Given the description of an element on the screen output the (x, y) to click on. 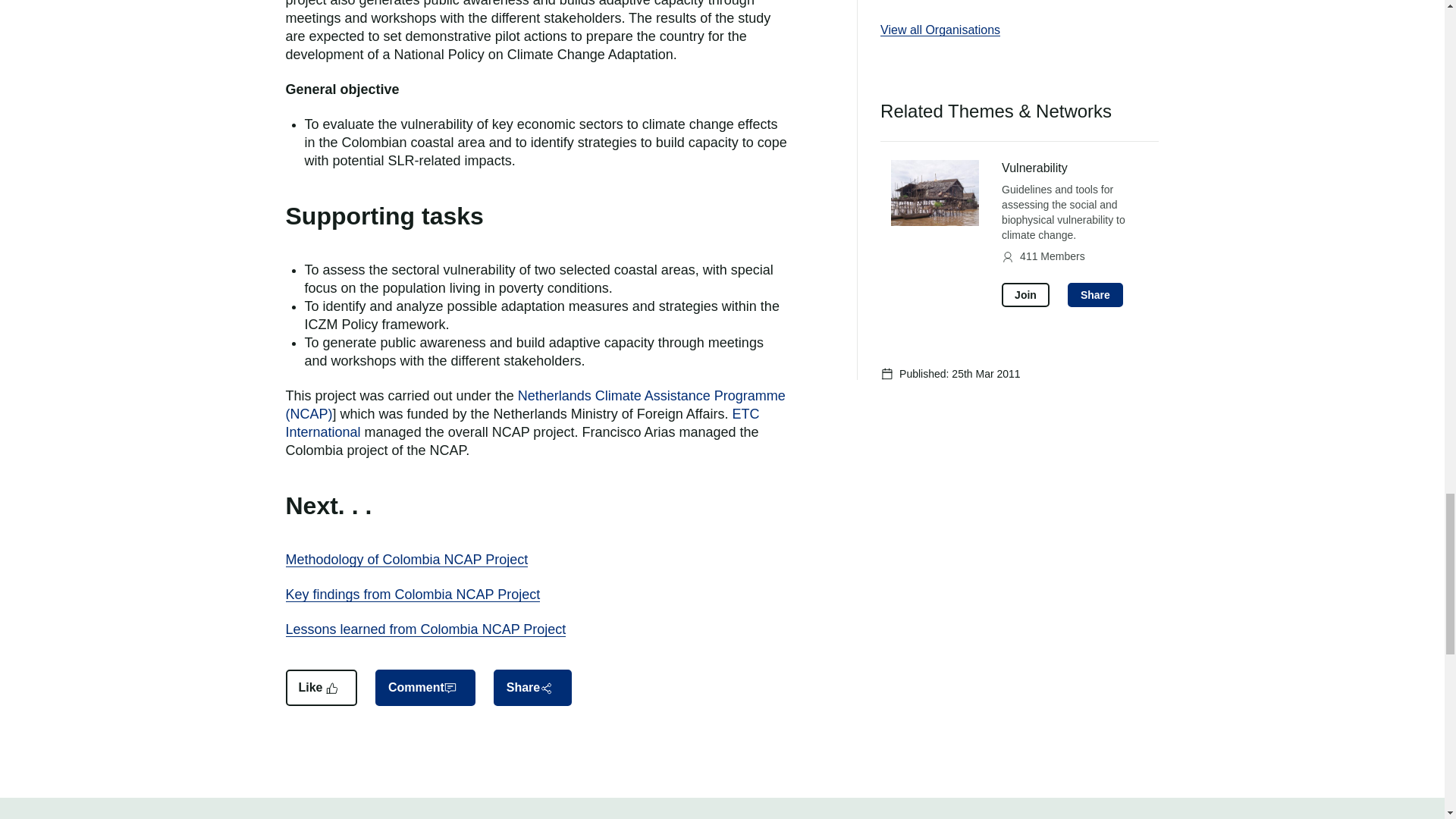
Key findings from Colombia NCAP Project (412, 594)
Methodology of Colombia NCAP Project (406, 559)
Lessons learned from Colombia NCAP Project (425, 629)
